Given the description of an element on the screen output the (x, y) to click on. 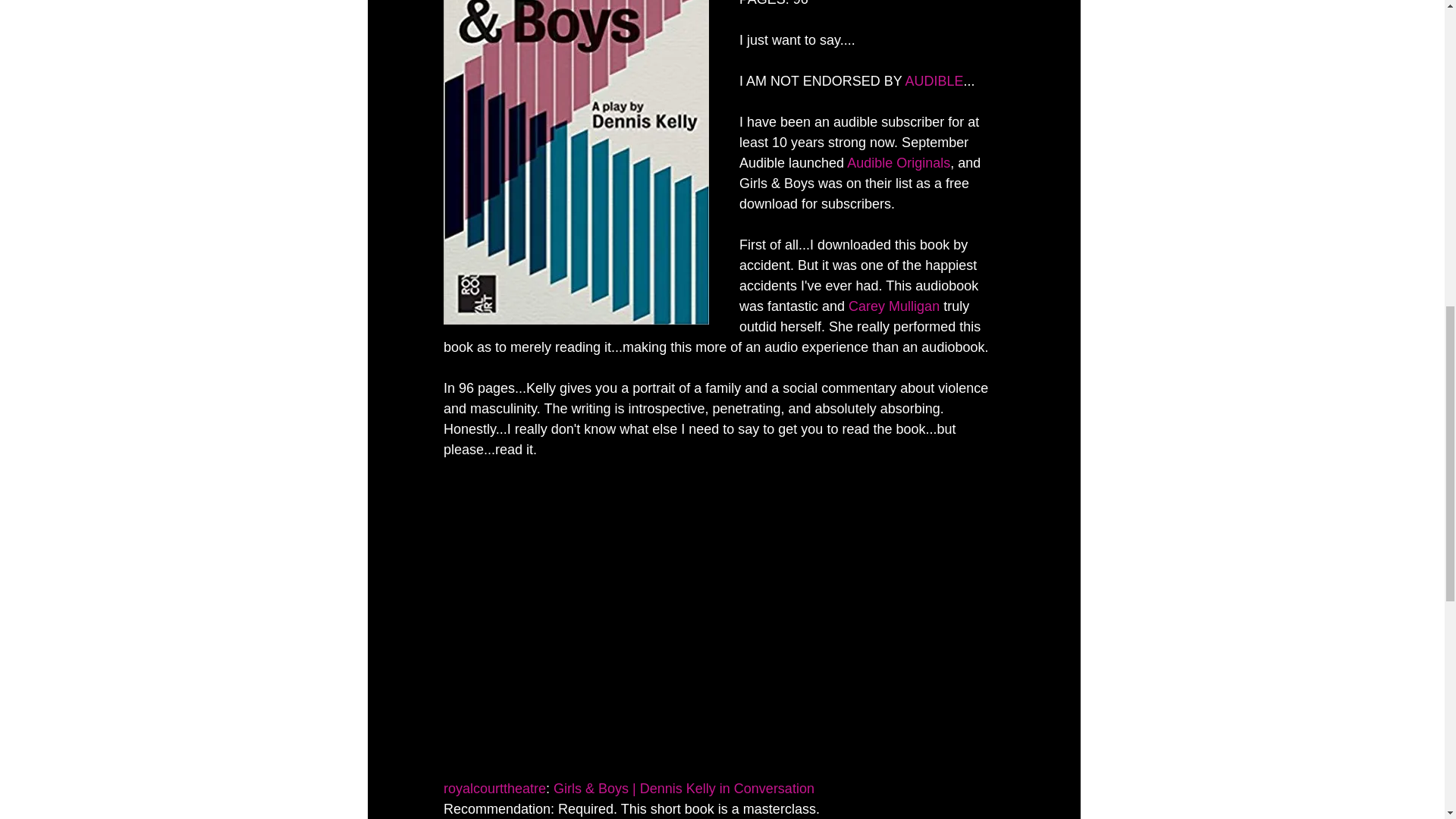
Audible Originals (898, 162)
AUDIBLE (933, 80)
